Given the description of an element on the screen output the (x, y) to click on. 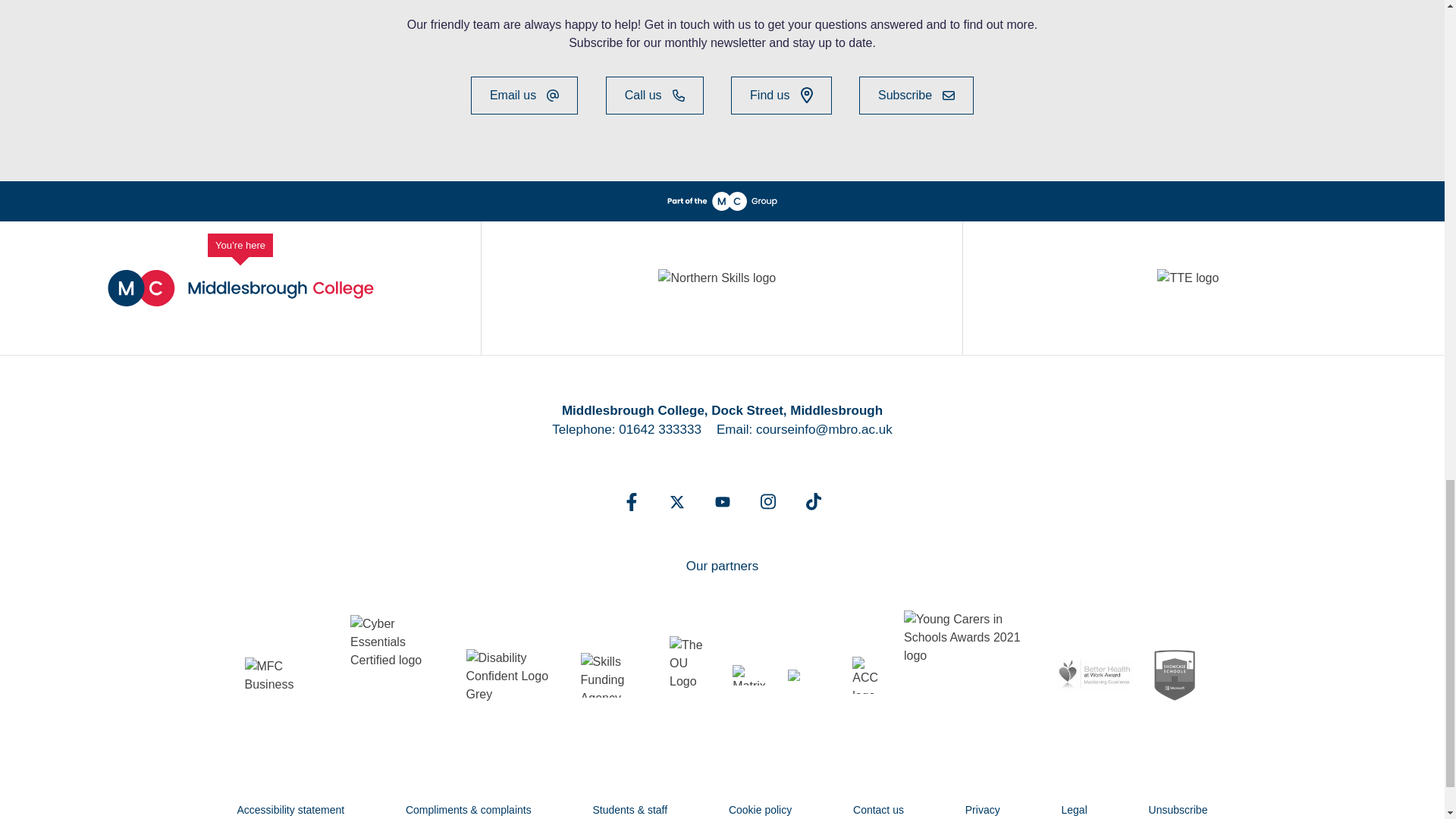
Lightcast logo (812, 674)
Northern Skills logo (721, 287)
AOC logo (869, 674)
Skills funding agency logo (616, 674)
Matrix logo (752, 674)
TTE Logo (1203, 287)
Disability confident employer logo (515, 675)
Middlesbrough College logo (240, 288)
